Given the description of an element on the screen output the (x, y) to click on. 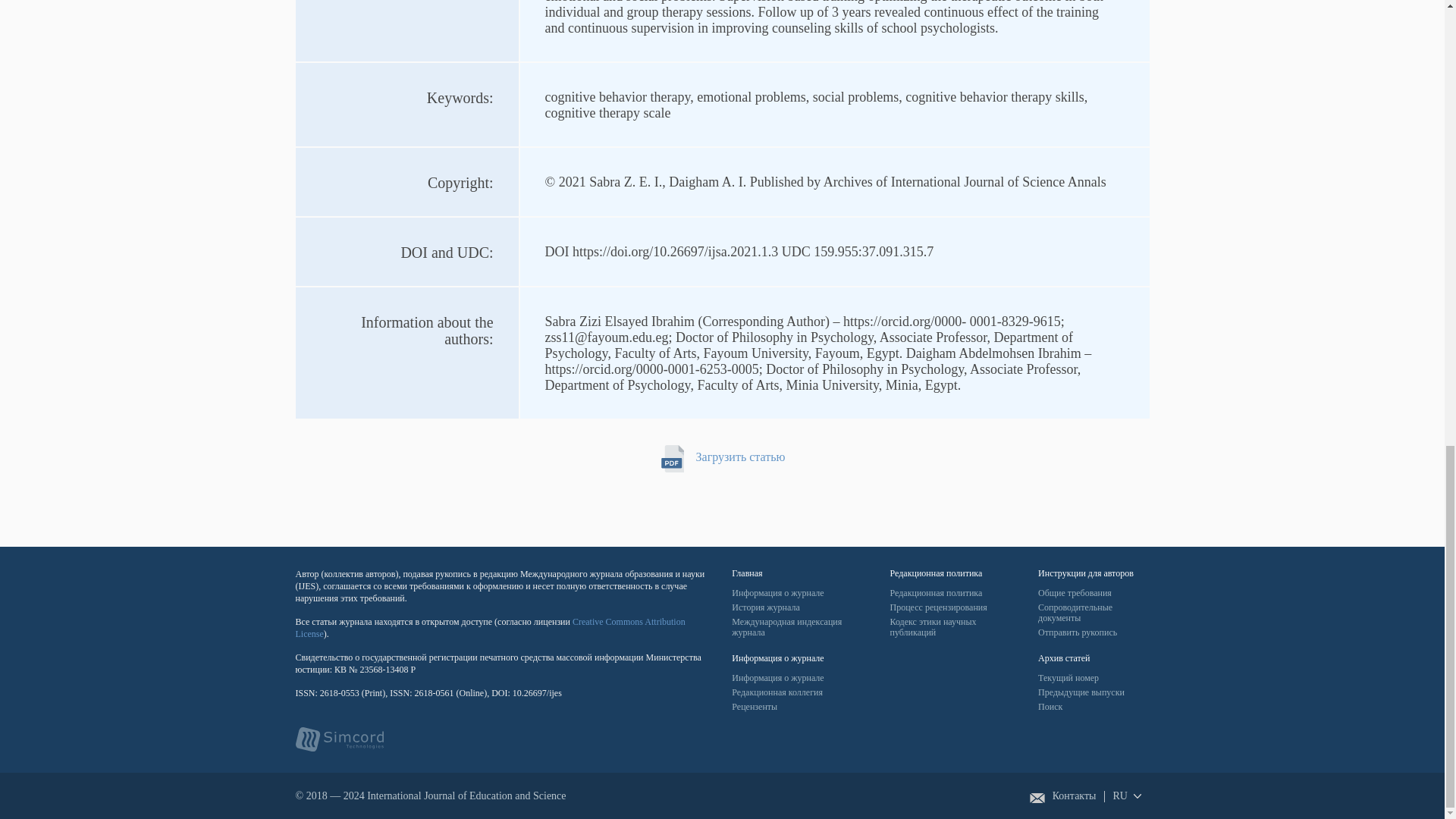
Creative Commons Attribution License (490, 627)
